Given the description of an element on the screen output the (x, y) to click on. 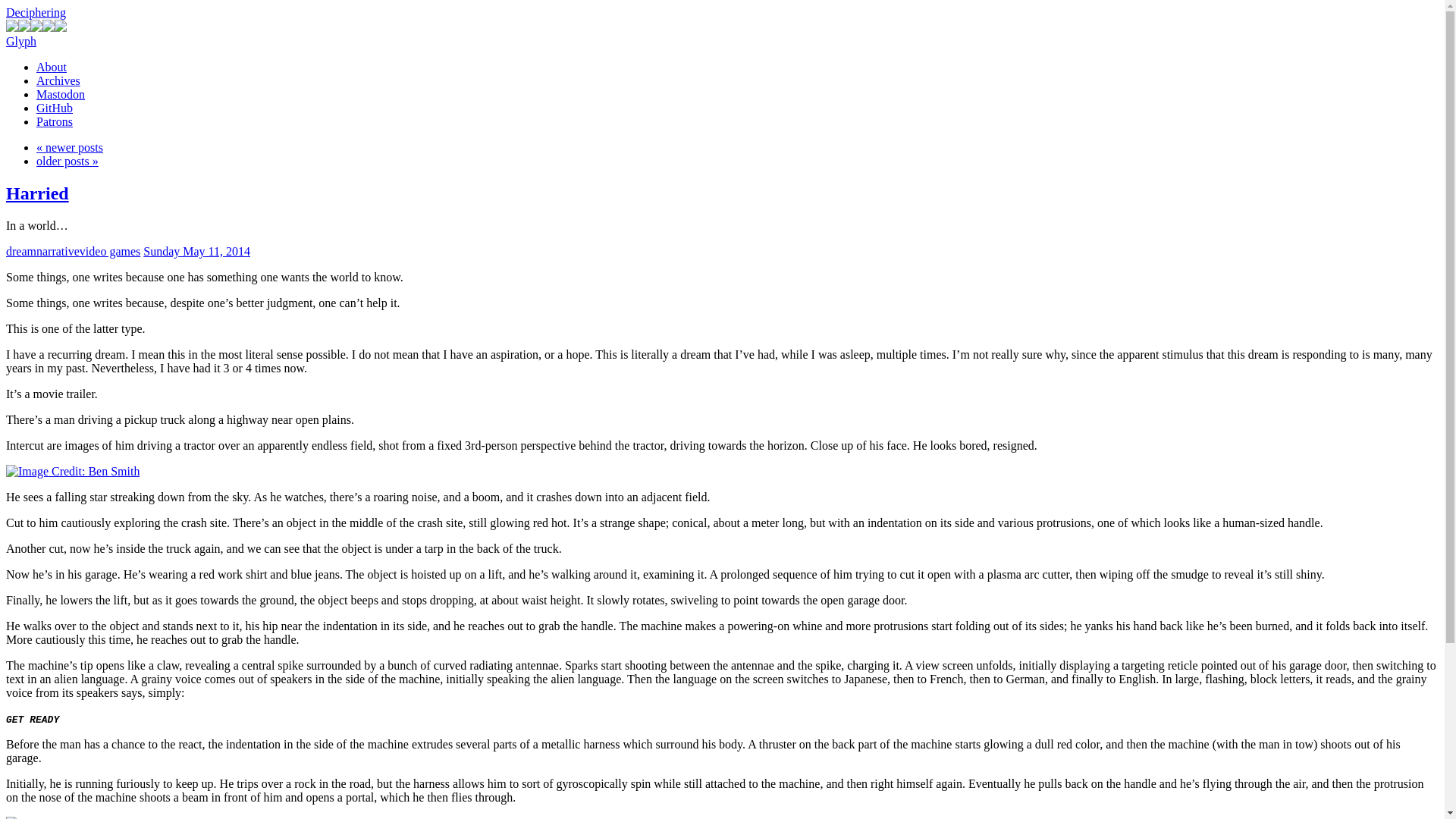
Patrons (54, 121)
Archives (58, 80)
About (51, 66)
dream (20, 250)
Sunday May 11, 2014 (196, 250)
Permalink to Harried (36, 193)
Mastodon (60, 93)
video games (109, 250)
Harried (36, 193)
narrative (58, 250)
Permalink to Harried (196, 250)
GitHub (54, 107)
